Given the description of an element on the screen output the (x, y) to click on. 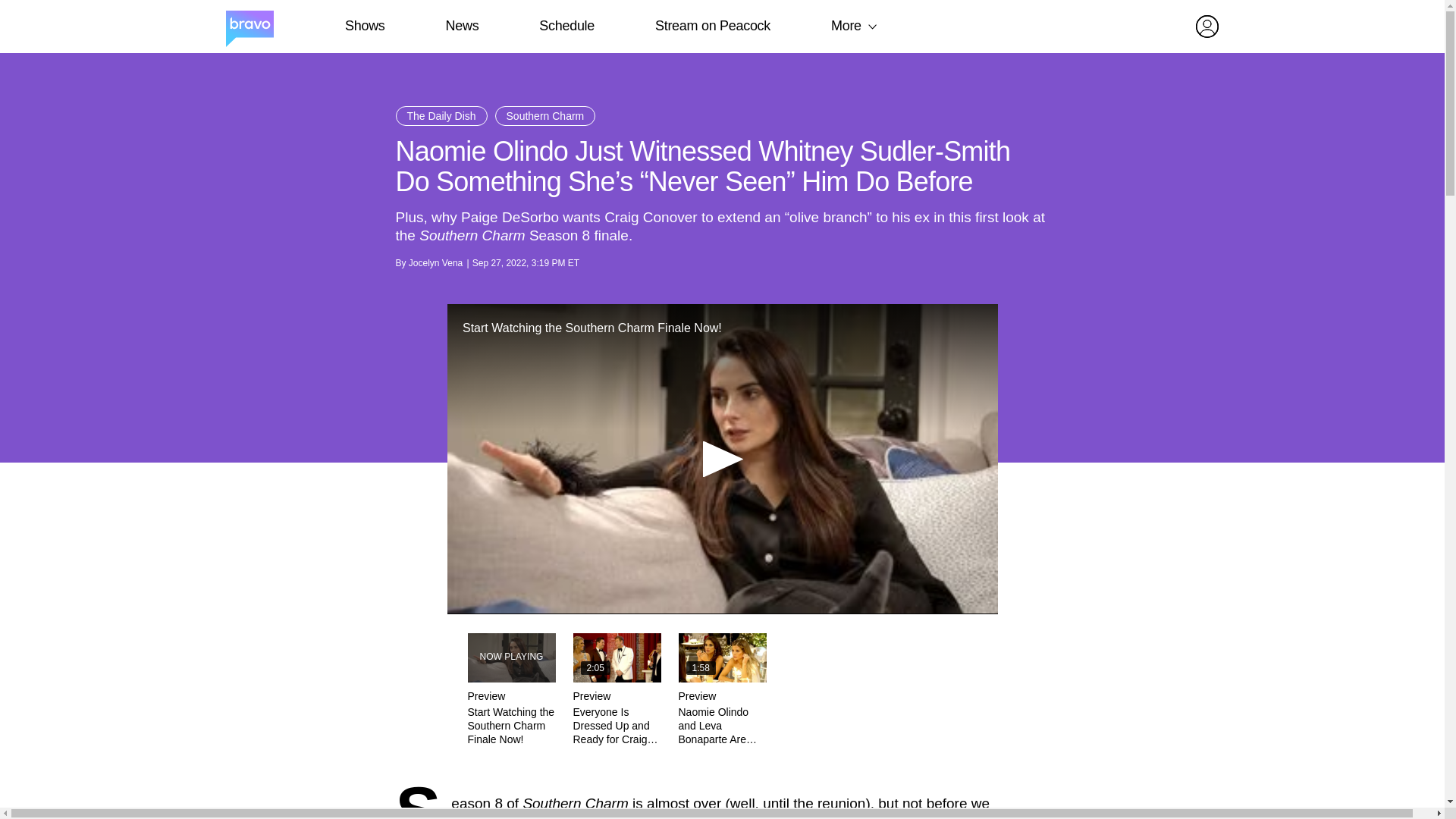
until the reunion (813, 803)
Schedule (566, 26)
More (846, 26)
Southern Charm (574, 803)
News (462, 26)
Shows (363, 26)
The Daily Dish (441, 116)
Home (249, 26)
Southern Charm (545, 116)
Stream on Peacock (712, 26)
Southern Charm (574, 803)
Jocelyn Vena (436, 262)
